Given the description of an element on the screen output the (x, y) to click on. 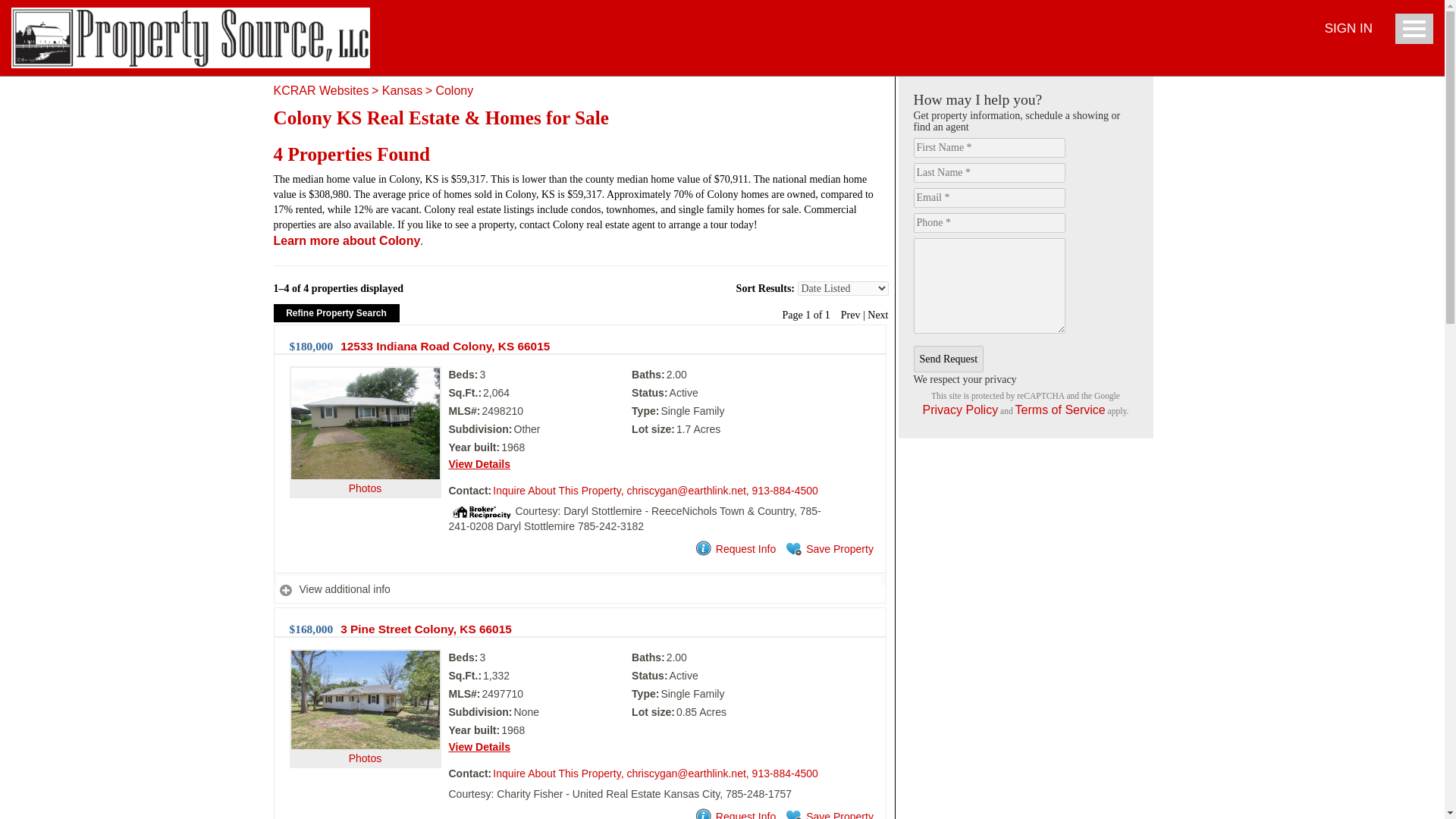
View Details (479, 746)
Refine Property Search (335, 312)
Learn more about Colony (346, 240)
Request Info (734, 814)
Save Property (828, 549)
Photos (365, 728)
12533 Indiana Road Colony, KS 66015 (445, 345)
Photos (365, 455)
SIGN IN (1348, 28)
Save Property (828, 814)
3 Pine Street Colony, KS 66015 (426, 628)
View Details (479, 463)
KCRAR Websites (320, 90)
Request Info (734, 549)
View property remarks and map (580, 589)
